Given the description of an element on the screen output the (x, y) to click on. 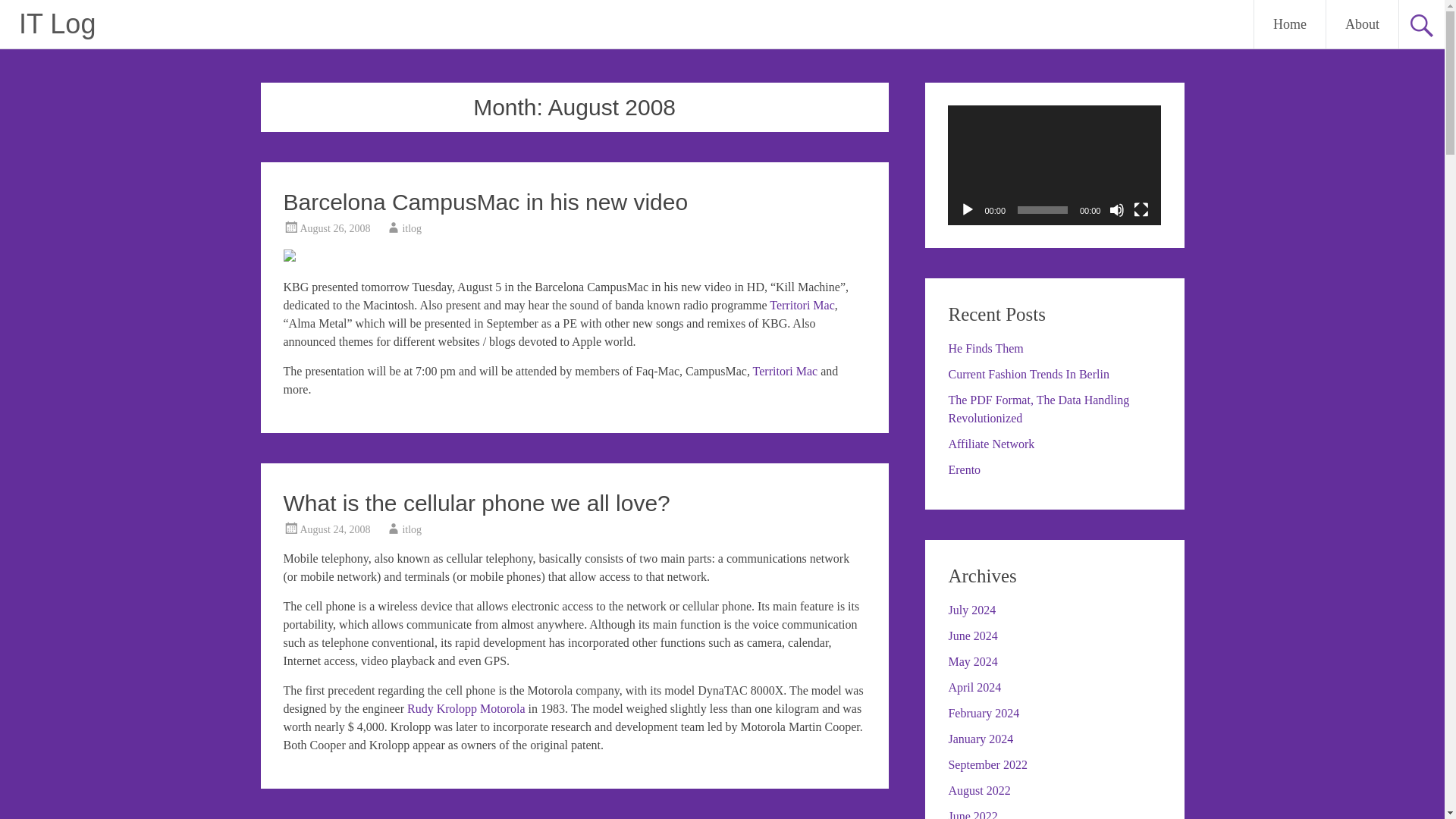
April 2024 (974, 686)
IT Log (57, 23)
August 2022 (978, 789)
itlog (411, 228)
August 24, 2008 (335, 529)
Play (967, 209)
Barcelona CampusMac in his new video (485, 201)
He Finds Them (985, 348)
February 2024 (983, 712)
Mute (1116, 209)
May 2024 (972, 661)
Fullscreen (1141, 209)
IT Log (57, 23)
The PDF Format, The Data Handling Revolutionized (1038, 409)
Territori Mac (802, 305)
